Given the description of an element on the screen output the (x, y) to click on. 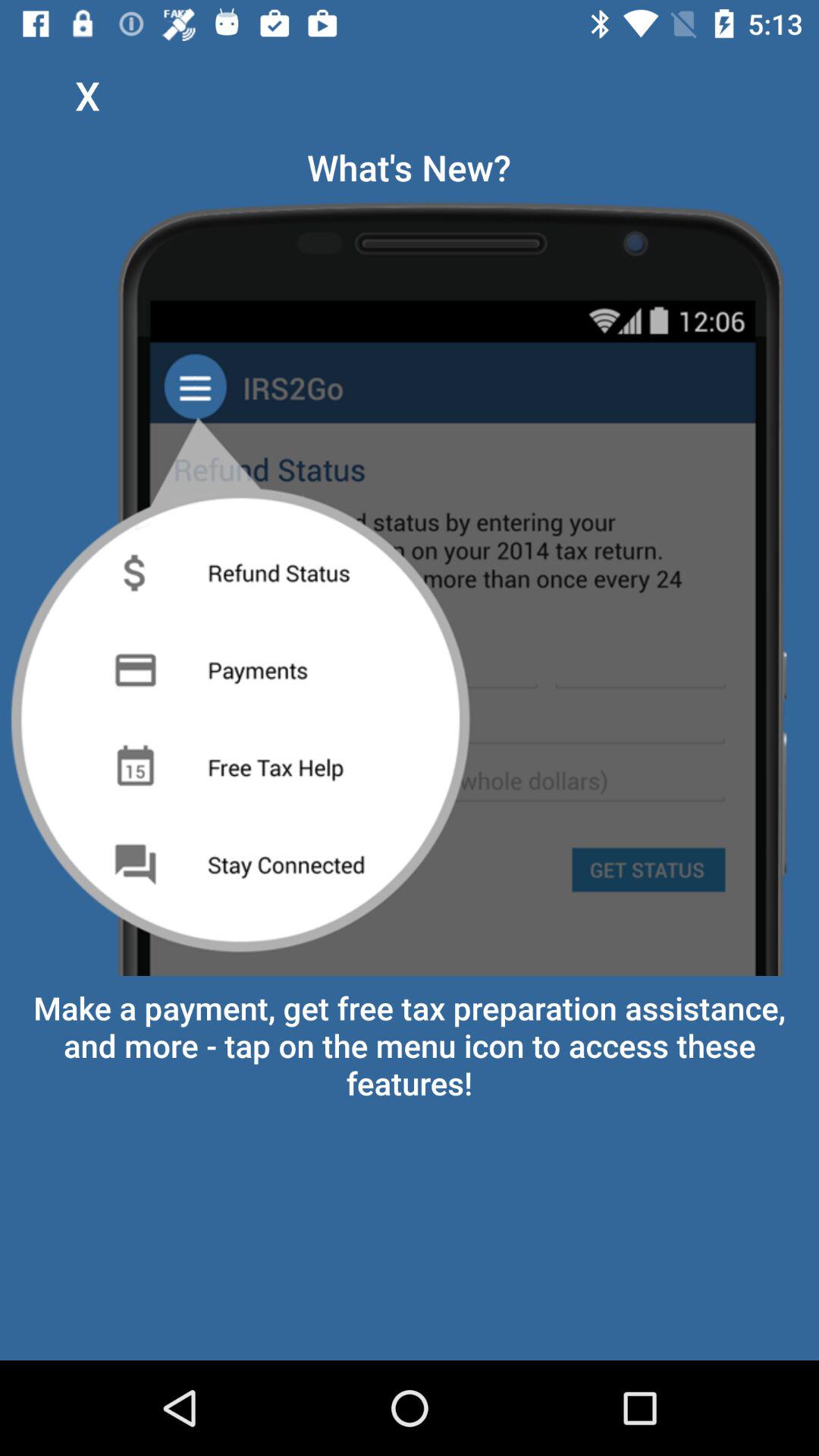
click the item above make a payment (409, 583)
